Given the description of an element on the screen output the (x, y) to click on. 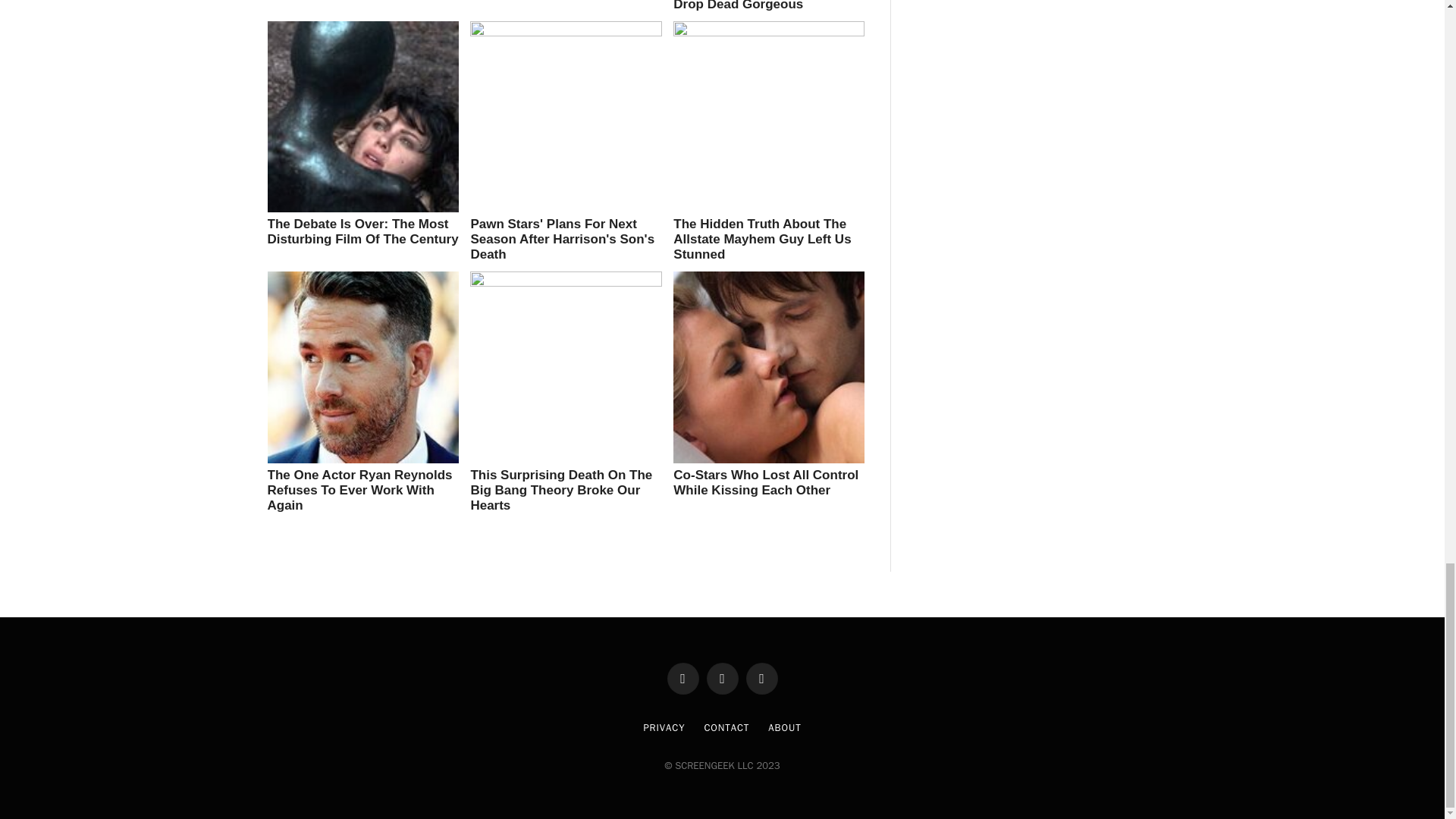
The Debate Is Over: The Most Disturbing Film Of The Century (362, 231)
